Given the description of an element on the screen output the (x, y) to click on. 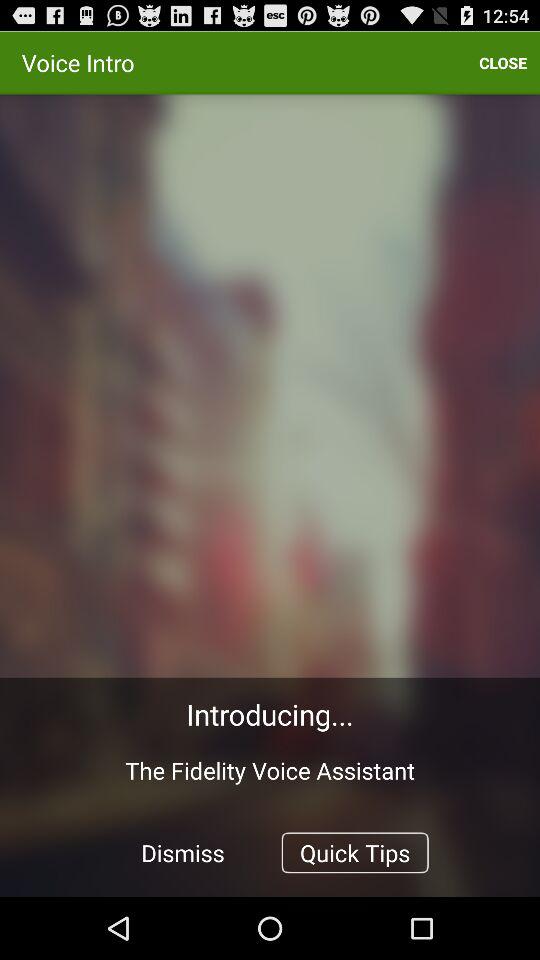
turn off icon to the right of voice intro item (503, 62)
